Given the description of an element on the screen output the (x, y) to click on. 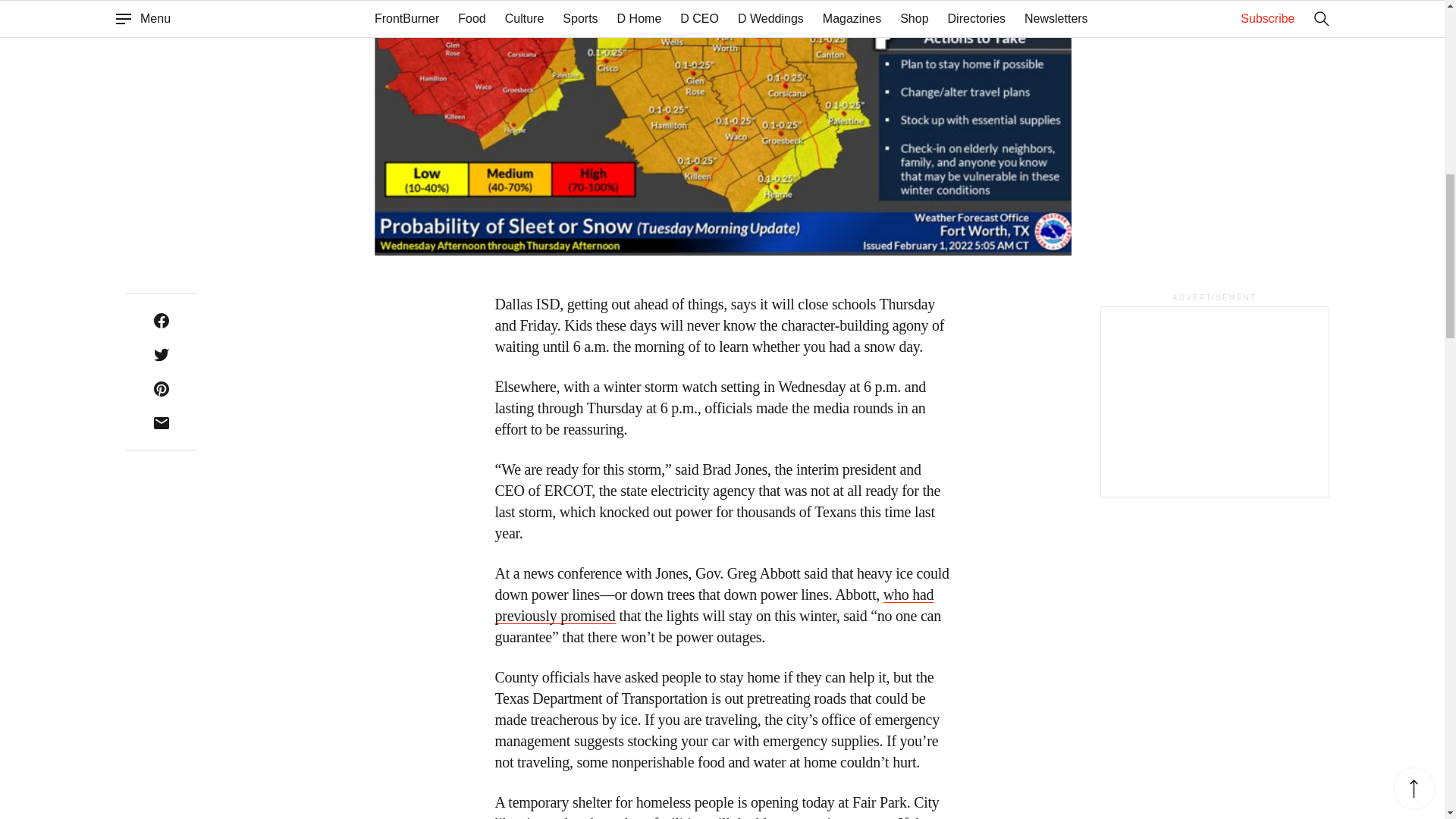
3rd party ad content (1213, 401)
